Given the description of an element on the screen output the (x, y) to click on. 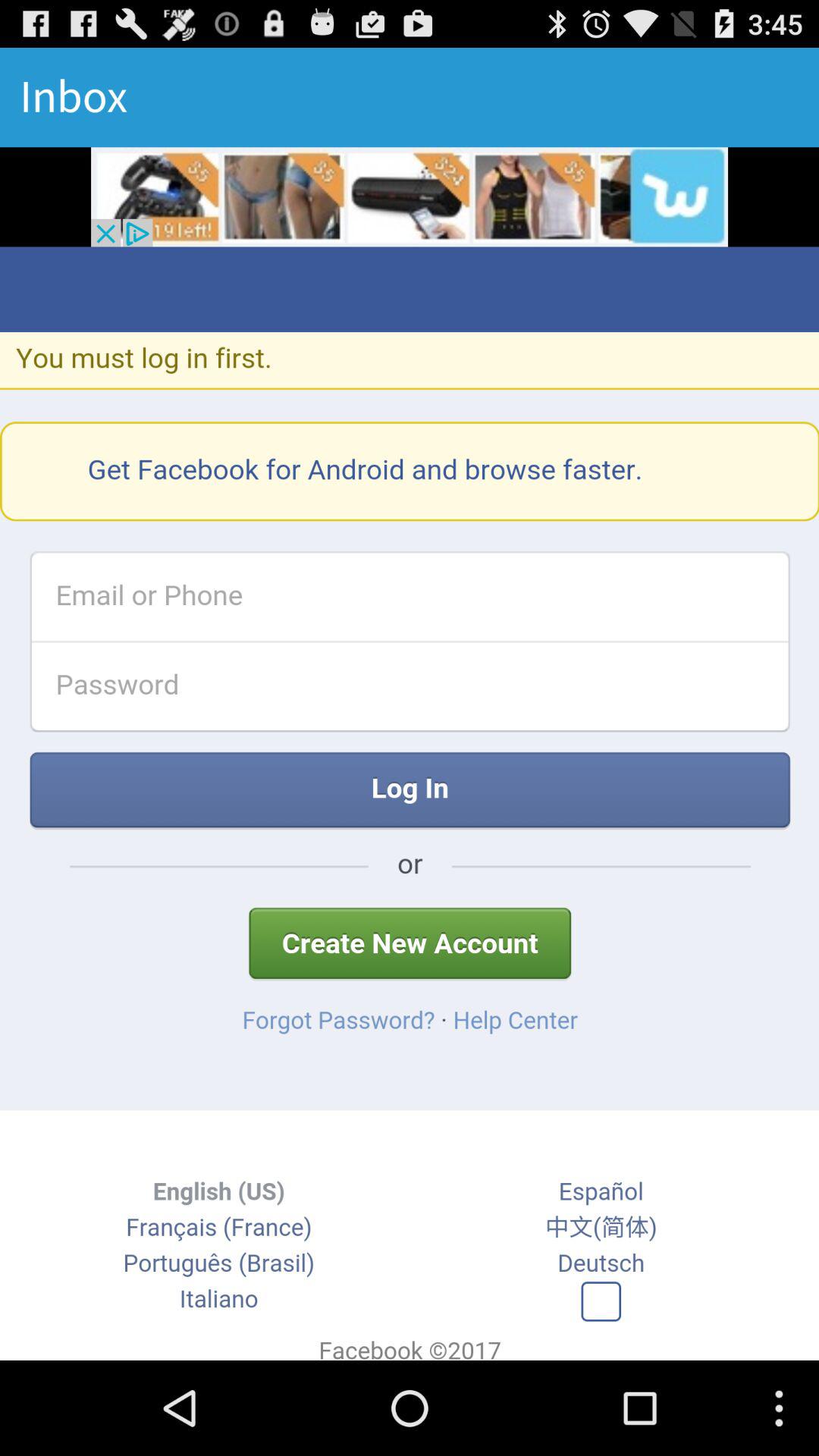
advertising link (409, 196)
